Given the description of an element on the screen output the (x, y) to click on. 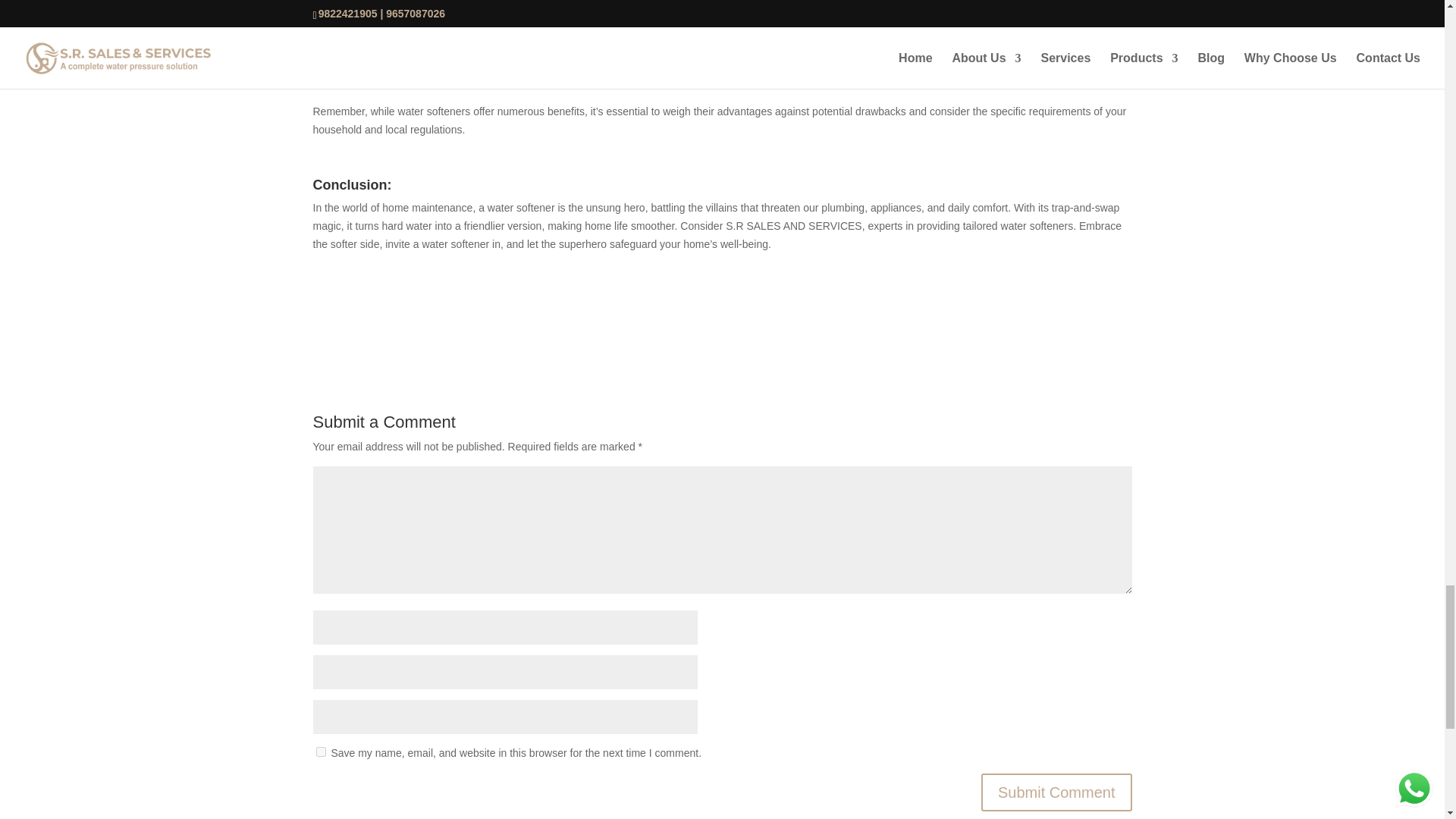
Submit Comment (1056, 792)
Submit Comment (1056, 792)
yes (319, 751)
